Given the description of an element on the screen output the (x, y) to click on. 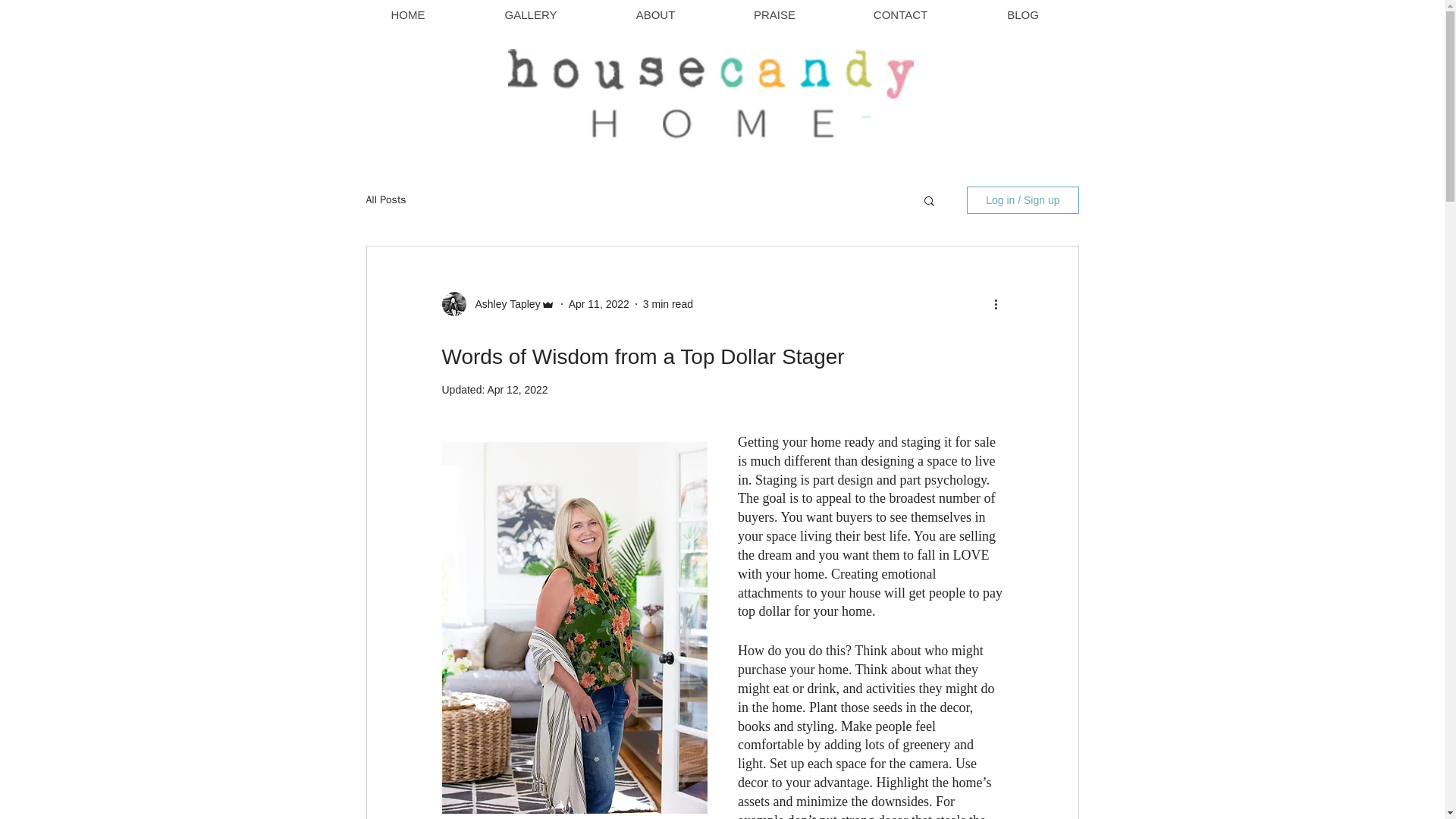
HOME (407, 15)
Ashley Tapley (502, 303)
Apr 11, 2022 (598, 303)
ABOUT (654, 15)
PRAISE (773, 15)
Apr 12, 2022 (516, 389)
All Posts (385, 200)
GALLERY (530, 15)
3 min read (668, 303)
BLOG (1022, 15)
